Given the description of an element on the screen output the (x, y) to click on. 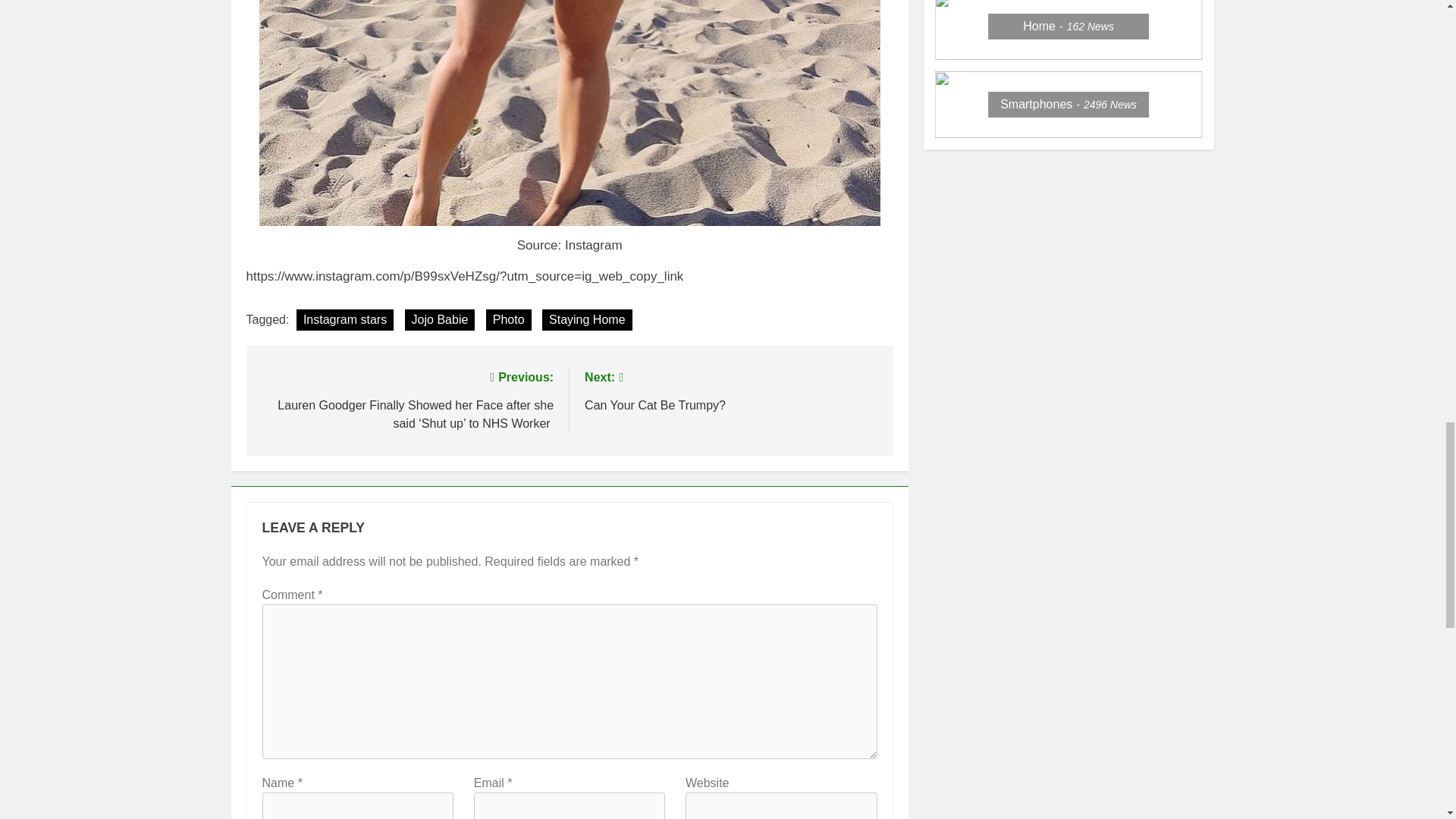
Staying Home (586, 319)
Jojo Babie (440, 319)
Photo (508, 319)
Instagram stars (731, 389)
